Given the description of an element on the screen output the (x, y) to click on. 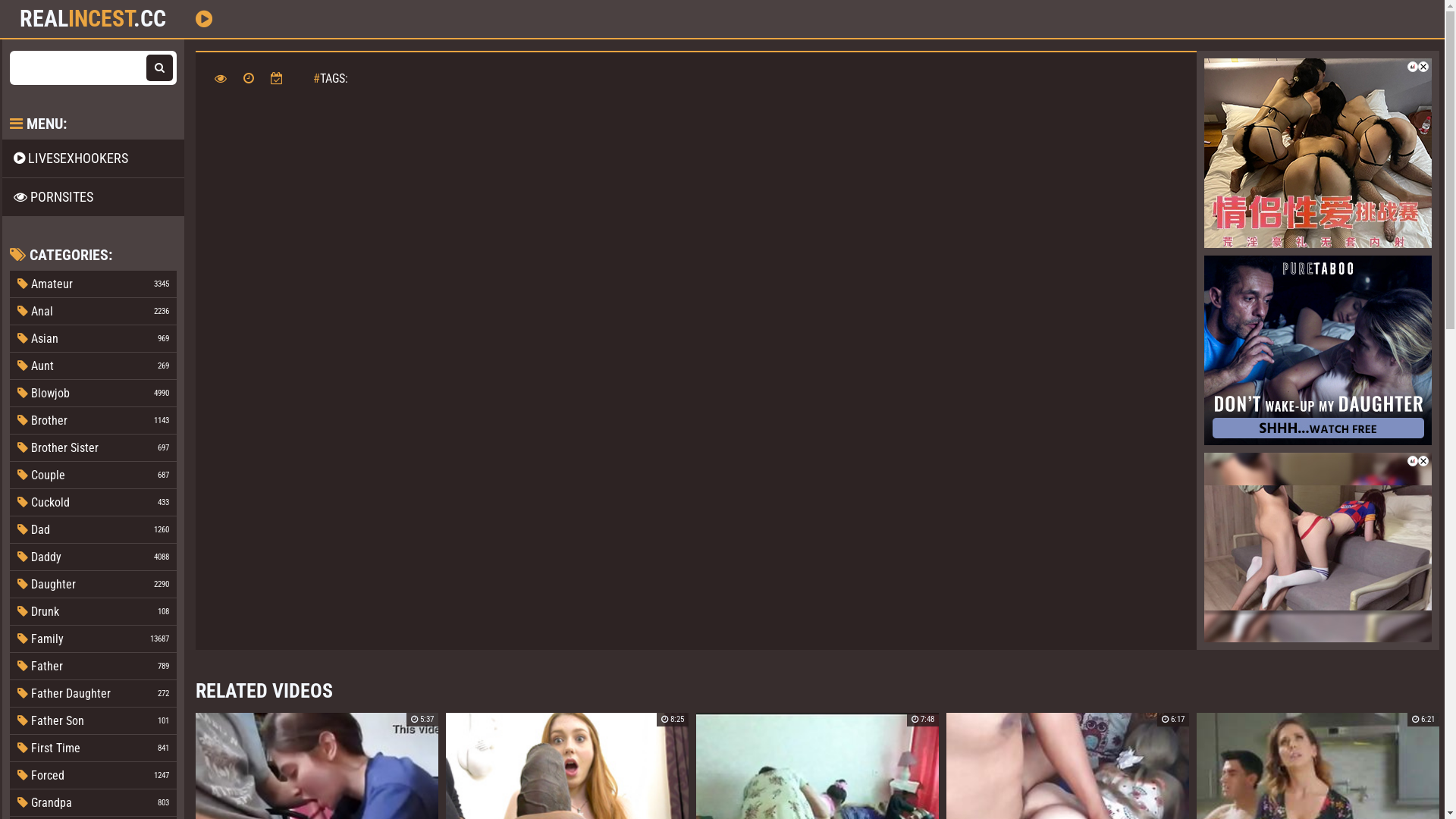
Forced
1247 Element type: text (92, 775)
Drunk
108 Element type: text (92, 611)
Find Element type: hover (158, 67)
PORNSITES Element type: text (92, 197)
LIVESEXHOOKERS Element type: text (92, 158)
Family
13687 Element type: text (92, 638)
Cuckold
433 Element type: text (92, 502)
Daughter
2290 Element type: text (92, 584)
Brother
1143 Element type: text (92, 420)
Aunt
269 Element type: text (92, 365)
Father Son
101 Element type: text (92, 720)
Father Daughter
272 Element type: text (92, 693)
Blowjob
4990 Element type: text (92, 392)
Father
789 Element type: text (92, 665)
Amateur
3345 Element type: text (92, 283)
Brother Sister
697 Element type: text (92, 447)
Couple
687 Element type: text (92, 474)
First Time
841 Element type: text (92, 747)
Asian
969 Element type: text (92, 338)
Dad
1260 Element type: text (92, 529)
Grandpa
803 Element type: text (92, 802)
Anal
2236 Element type: text (92, 311)
REALINCEST.CC Element type: text (92, 18)
Daddy
4088 Element type: text (92, 556)
